Given the description of an element on the screen output the (x, y) to click on. 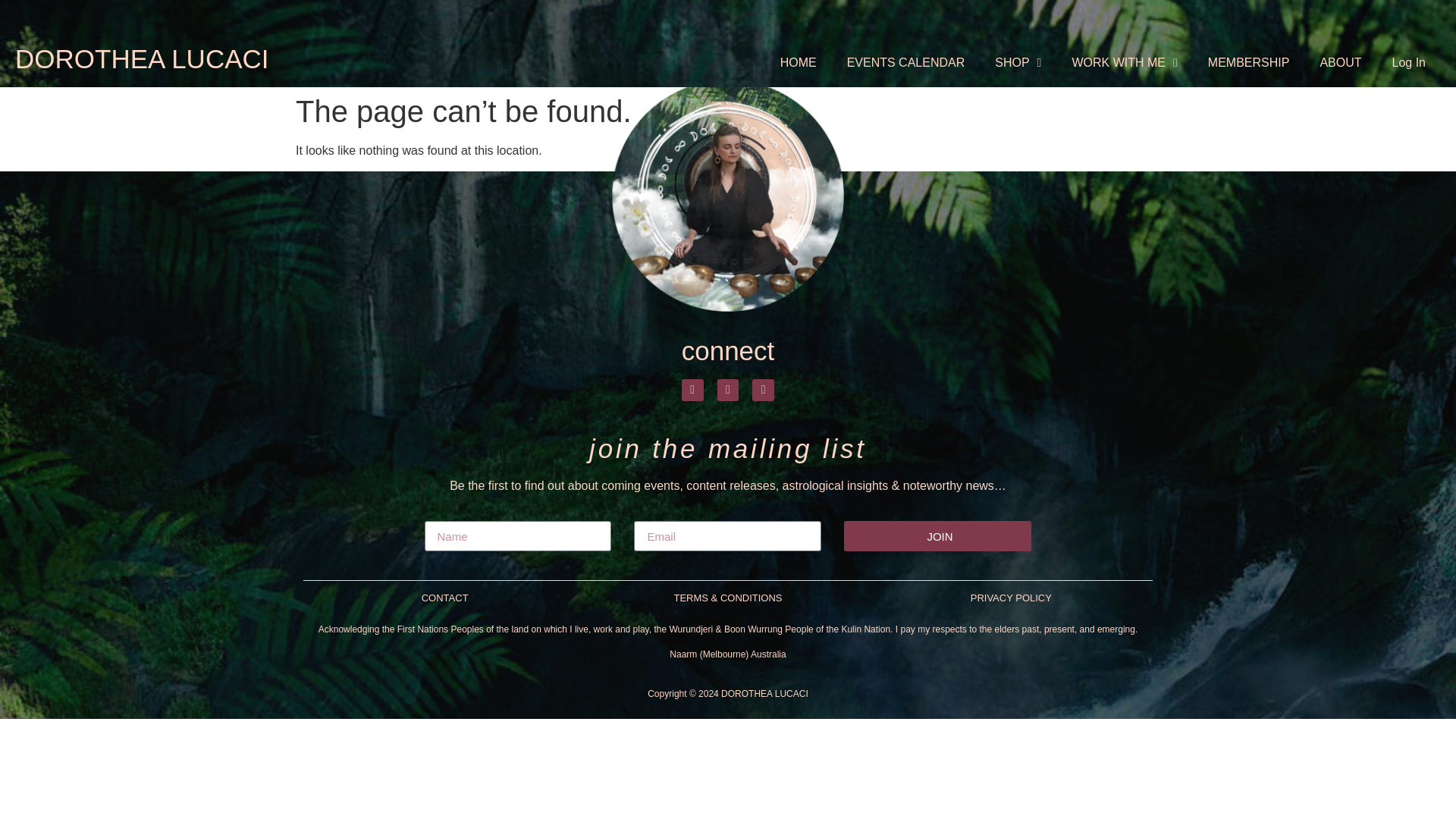
MEMBERSHIP (1248, 62)
WORK WITH ME (1124, 62)
SHOP (1018, 62)
Log In (1409, 62)
ABOUT (1339, 62)
HOME (798, 62)
EVENTS CALENDAR (905, 62)
